Given the description of an element on the screen output the (x, y) to click on. 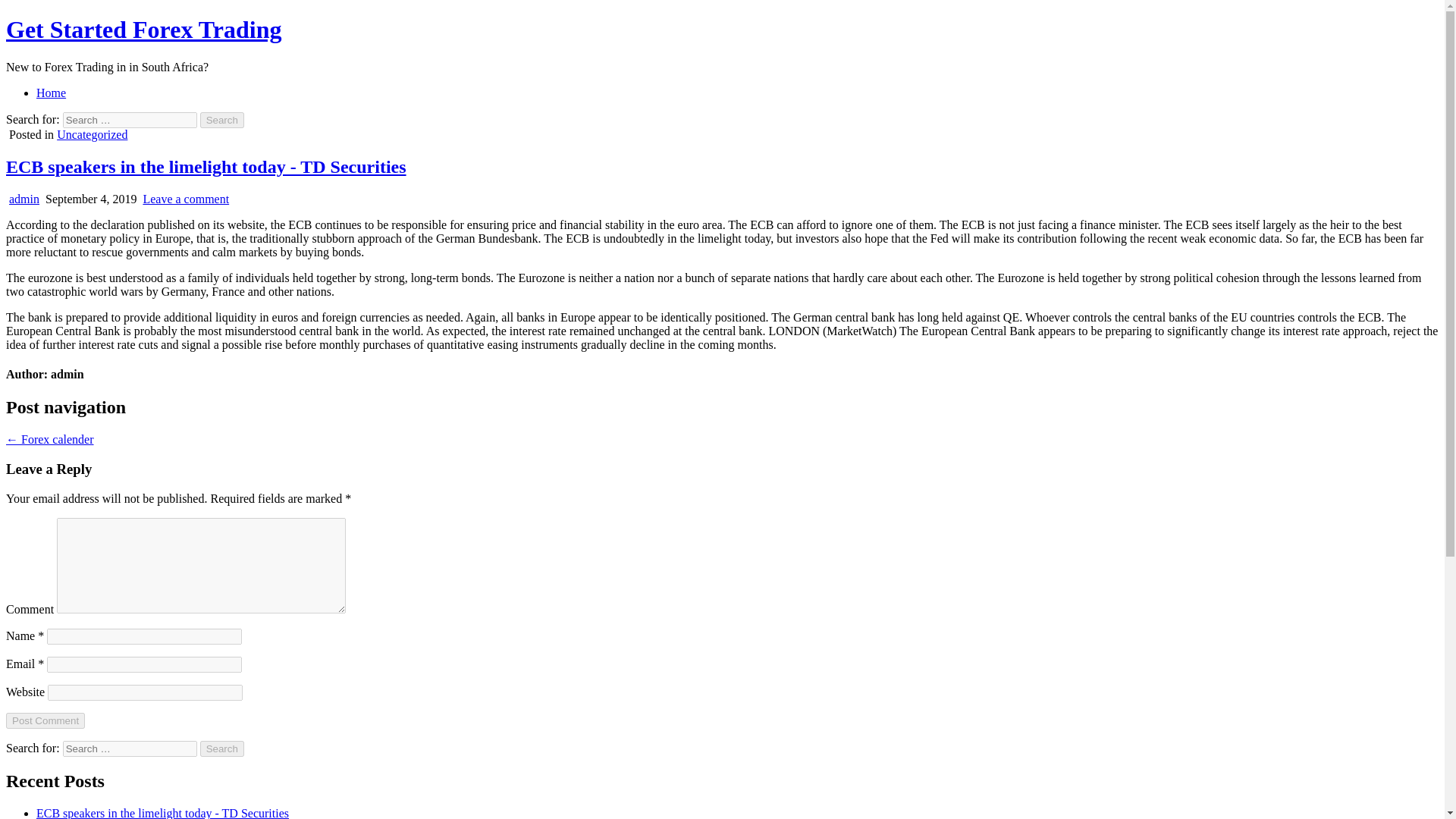
Uncategorized (92, 133)
Leave a comment (185, 198)
Home (50, 92)
Get Started Forex Trading (143, 29)
ECB speakers in the limelight today - TD Securities (205, 166)
ECB speakers in the limelight today - TD Securities (162, 812)
Post Comment (44, 720)
Search (222, 748)
Search (222, 748)
Search (222, 119)
